Given the description of an element on the screen output the (x, y) to click on. 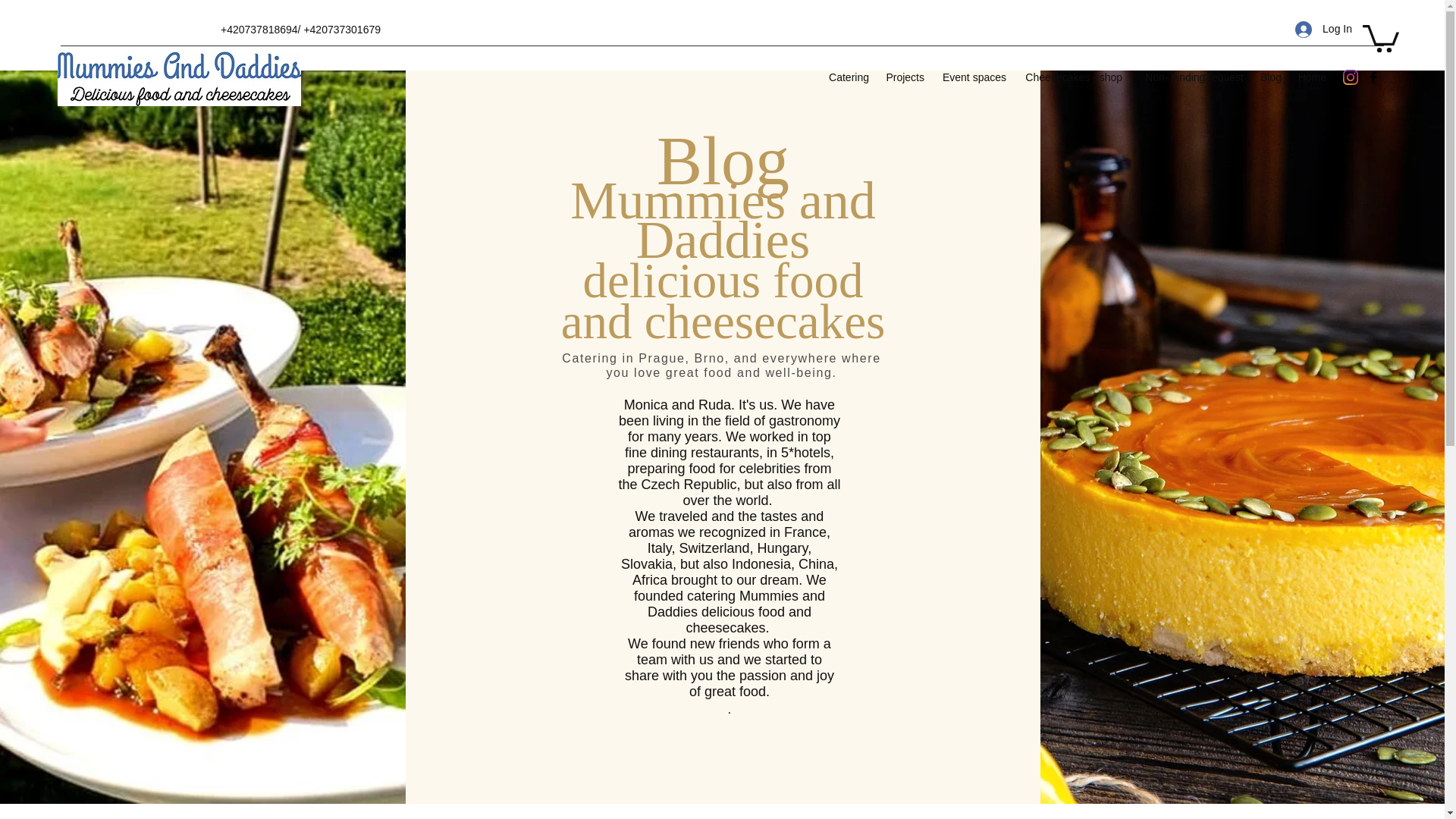
Log In (1323, 29)
catering Mummies and Daddies delicious food and cheesecakes (179, 78)
Home (1310, 77)
Event spaces (972, 77)
Blog (1269, 77)
Catering (847, 77)
Projects (903, 77)
Non- binding request (1189, 77)
Cheesecakes - shop (1071, 77)
